Given the description of an element on the screen output the (x, y) to click on. 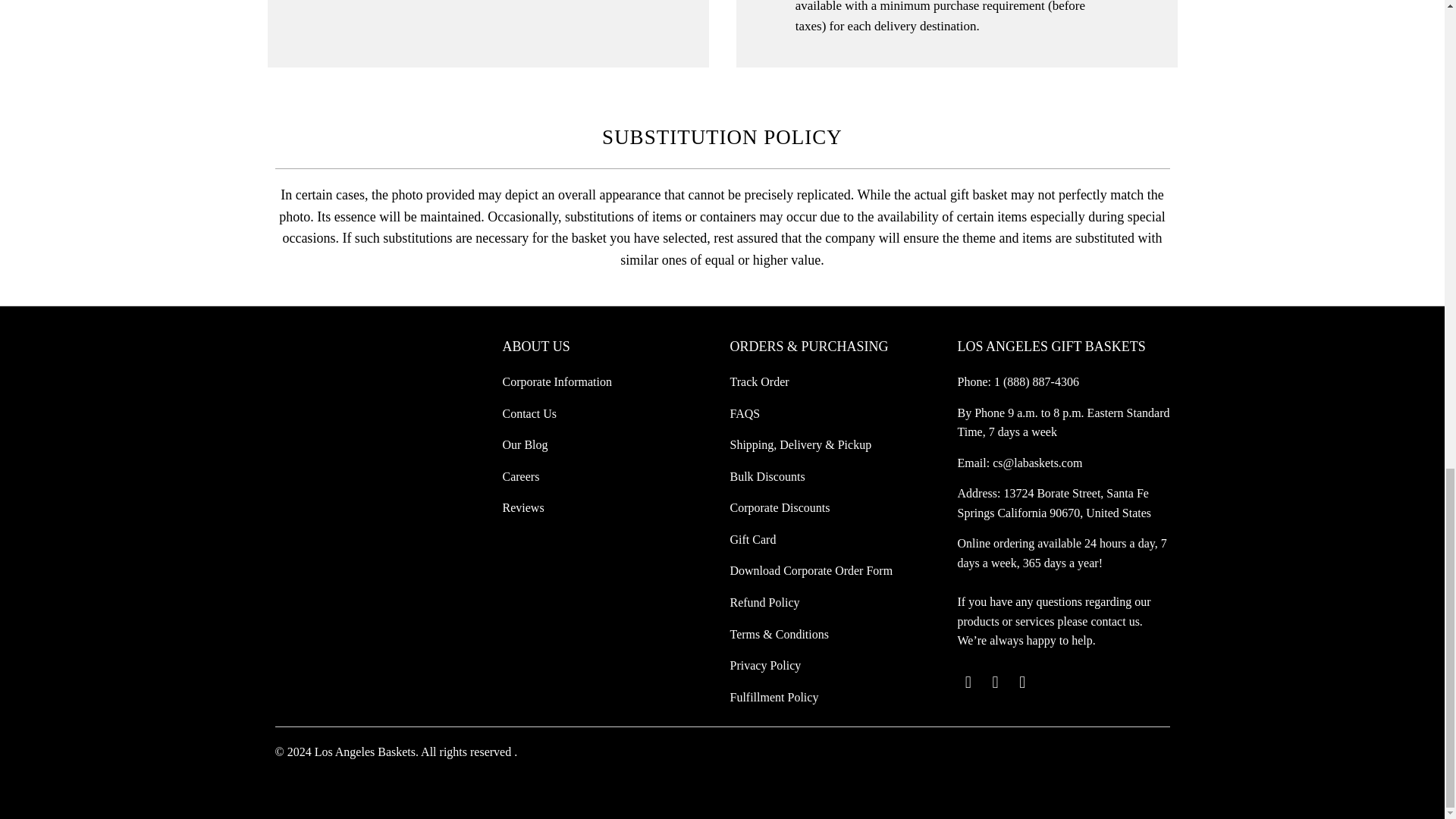
Los Angeles Baskets on Instagram (1022, 682)
Los Angeles Baskets on Twitter (967, 682)
Los Angeles Baskets on Facebook (995, 682)
